Given the description of an element on the screen output the (x, y) to click on. 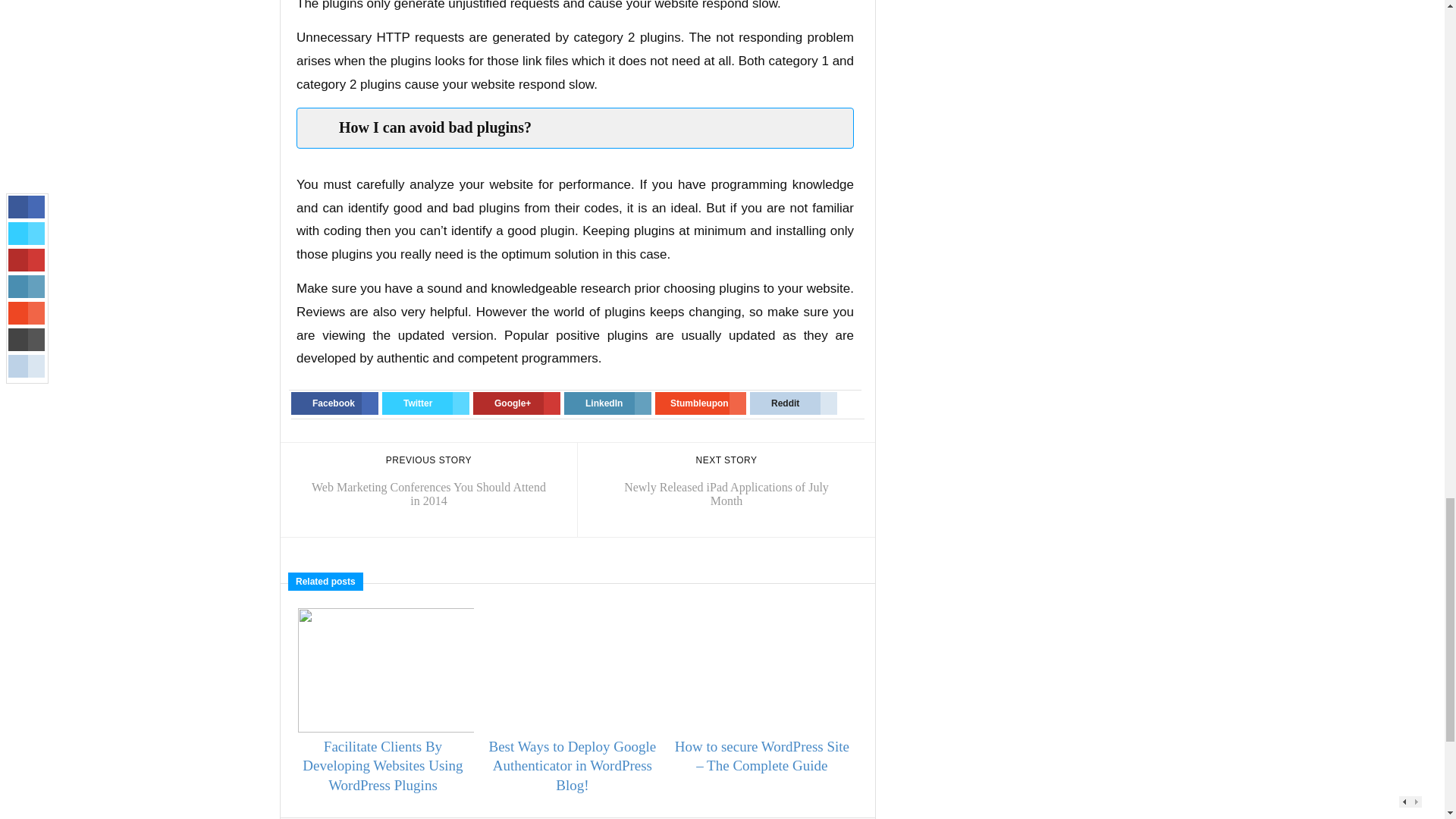
Twitter (424, 403)
Stumble it (700, 403)
LinkedIn (607, 403)
Best Ways to Deploy Google Authenticator in WordPress Blog! (726, 490)
Share on LinkedIn (571, 765)
Stumbleupon (607, 403)
Share on Twitter (700, 403)
Facebook (424, 403)
Reddit (334, 403)
